Given the description of an element on the screen output the (x, y) to click on. 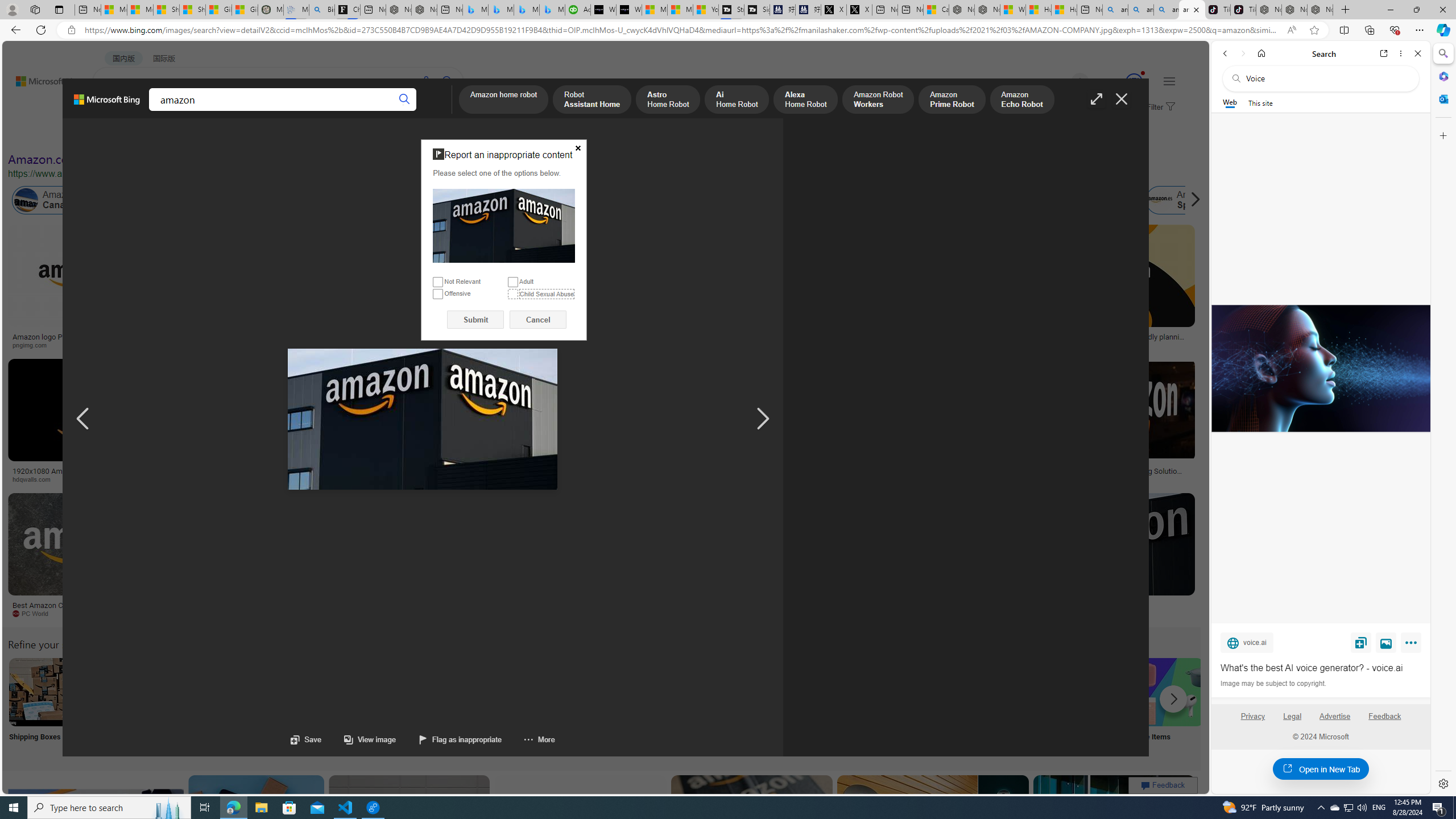
AutomationID: navr (762, 418)
Privacy (1252, 715)
Dropdown Menu (443, 111)
Amazon Labor Law Violation in California (642, 199)
Alexa Smart Home Devices (673, 332)
Amazon Sign in My Account Sign My Account (718, 706)
Amazon Shipping Boxes Shipping Boxes (42, 706)
Amazonprotothema.grSave (1104, 557)
Not Relevant (437, 282)
Mini TV (794, 706)
License (378, 135)
